Given the description of an element on the screen output the (x, y) to click on. 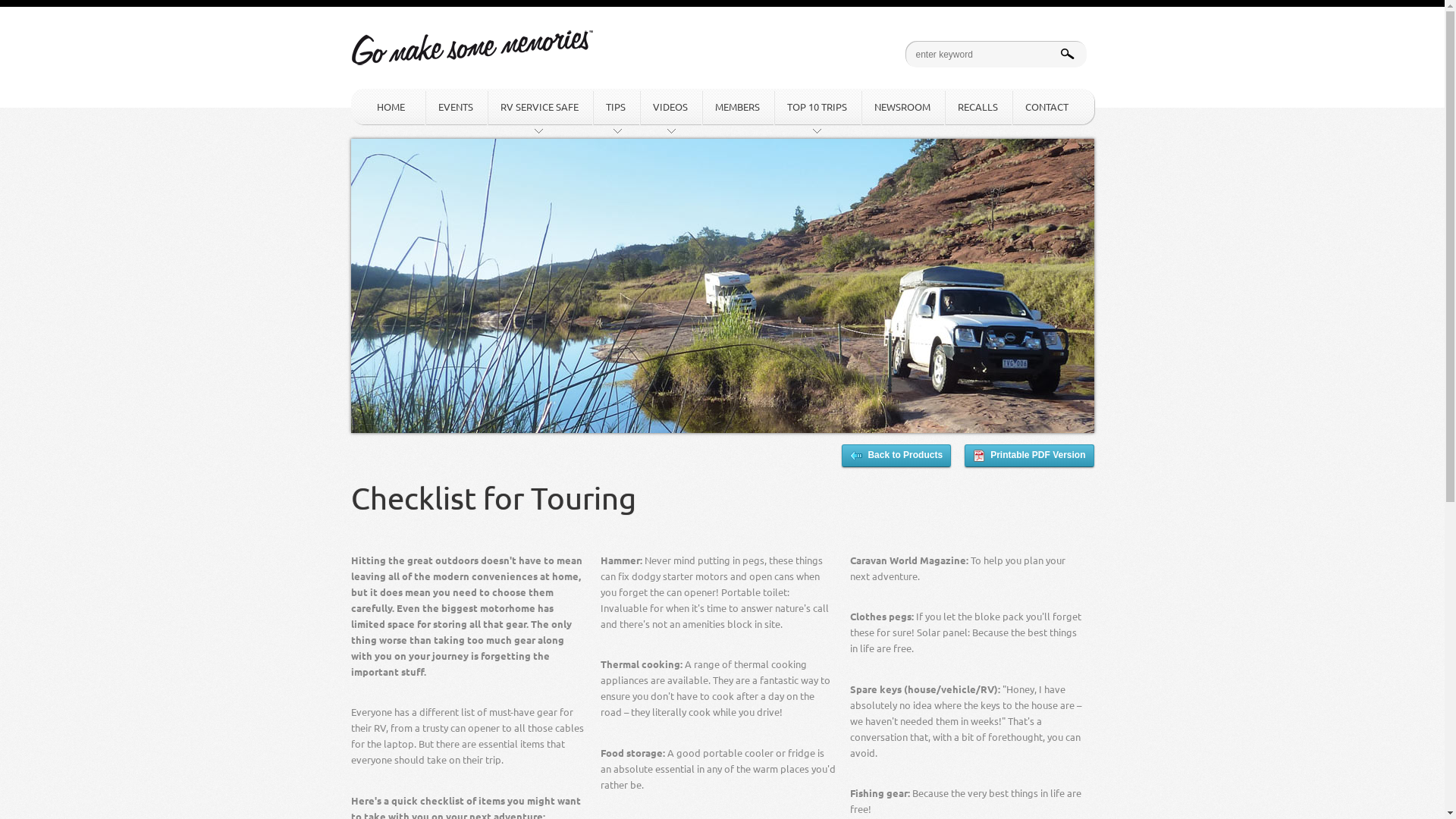
EVENTS Element type: text (455, 106)
TOP 10 TRIPS
   Element type: text (816, 106)
RECALLS Element type: text (976, 106)
NEWSROOM Element type: text (901, 106)
Back to Products Element type: text (895, 455)
Search Element type: text (23, 10)
RV SERVICE SAFE
   Element type: text (539, 106)
VIDEOS
   Element type: text (669, 106)
CONTACT Element type: text (1046, 106)
TIPS
   Element type: text (614, 106)
MEMBERS Element type: text (736, 106)
Go Make Some Memories Element type: text (471, 38)
HOME Element type: text (386, 106)
Printable PDF Version Element type: text (1028, 455)
